Given the description of an element on the screen output the (x, y) to click on. 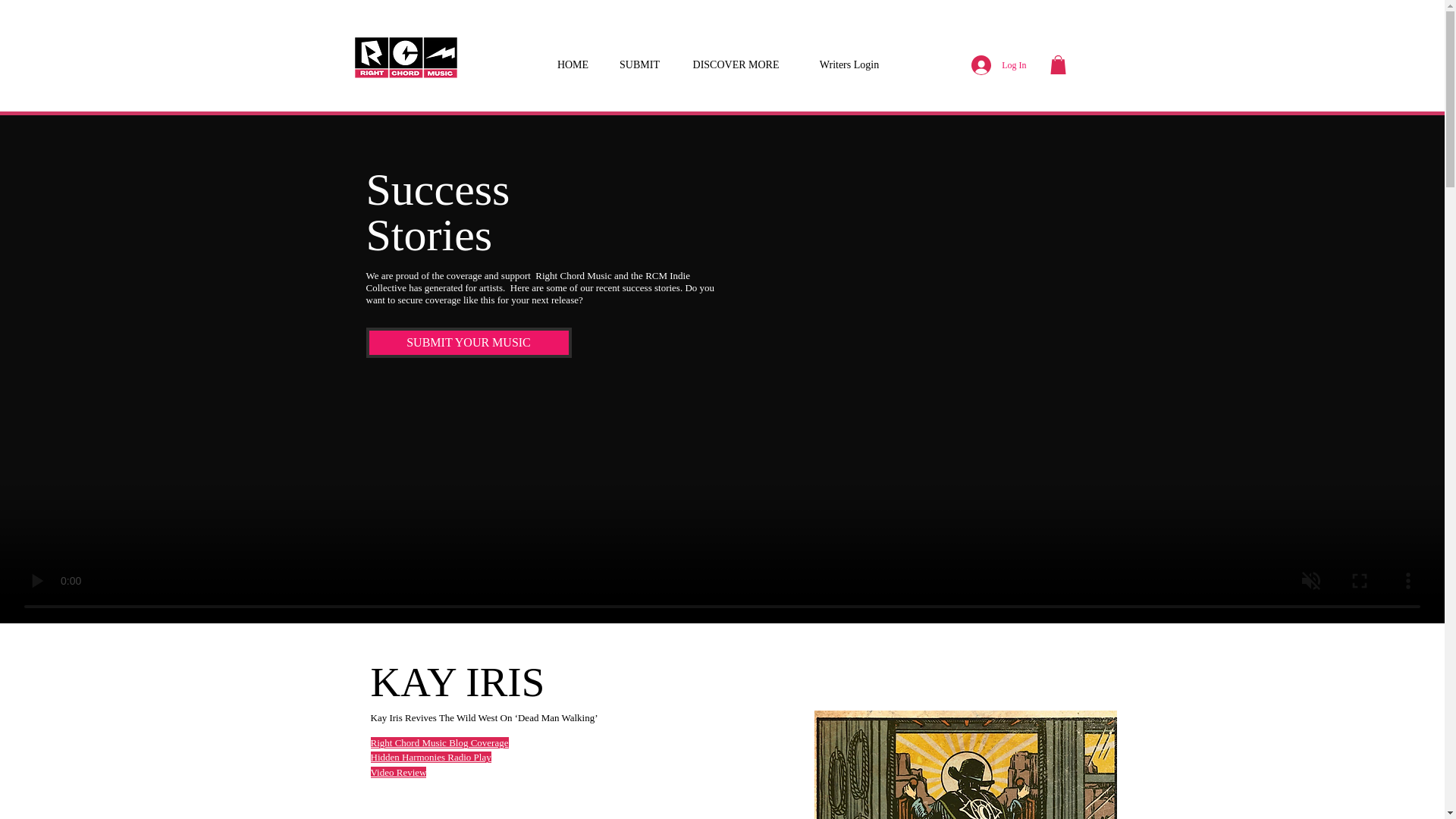
Right Chord Music Blog Logo (405, 57)
SUBMIT YOUR MUSIC (467, 342)
Writers Login (849, 58)
Right Chord Music Blog Coverage (438, 742)
Hidden Harmonies Radio Play (429, 756)
HOME (572, 58)
Log In (998, 64)
SUBMIT (639, 58)
